Given the description of an element on the screen output the (x, y) to click on. 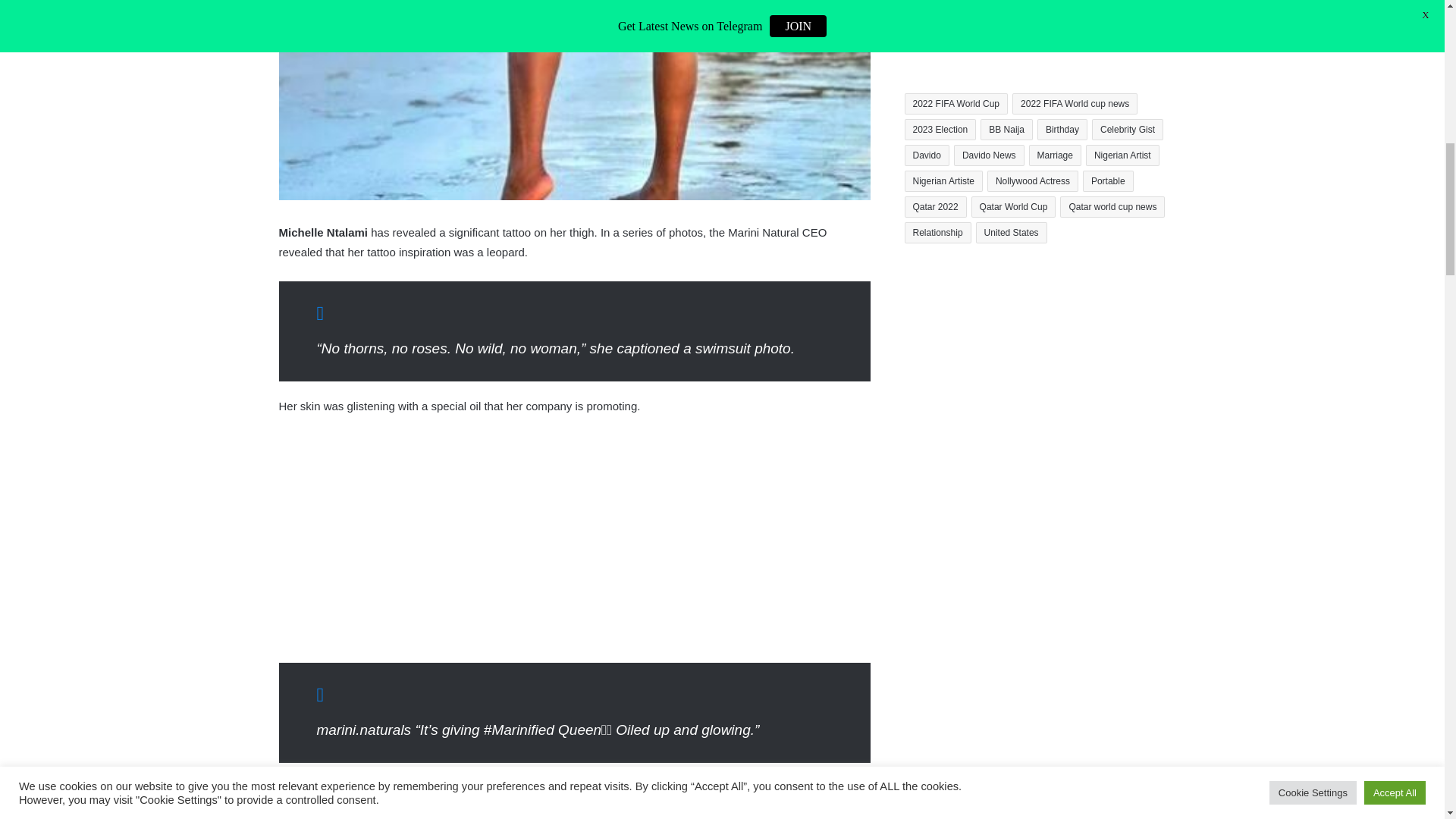
Advertisement (574, 540)
